Given the description of an element on the screen output the (x, y) to click on. 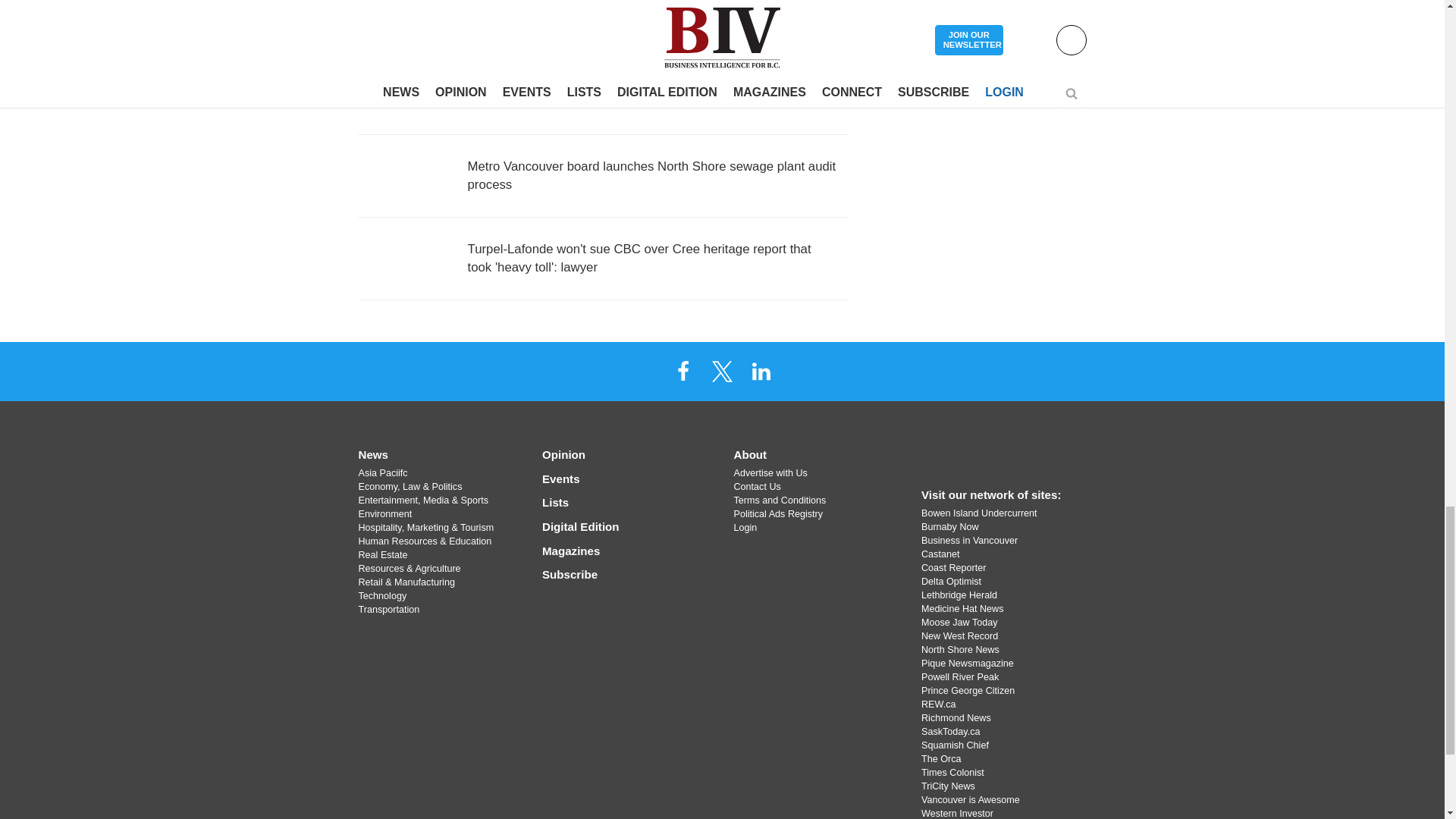
LinkedIn (760, 371)
X (721, 371)
Facebook (683, 371)
